Given the description of an element on the screen output the (x, y) to click on. 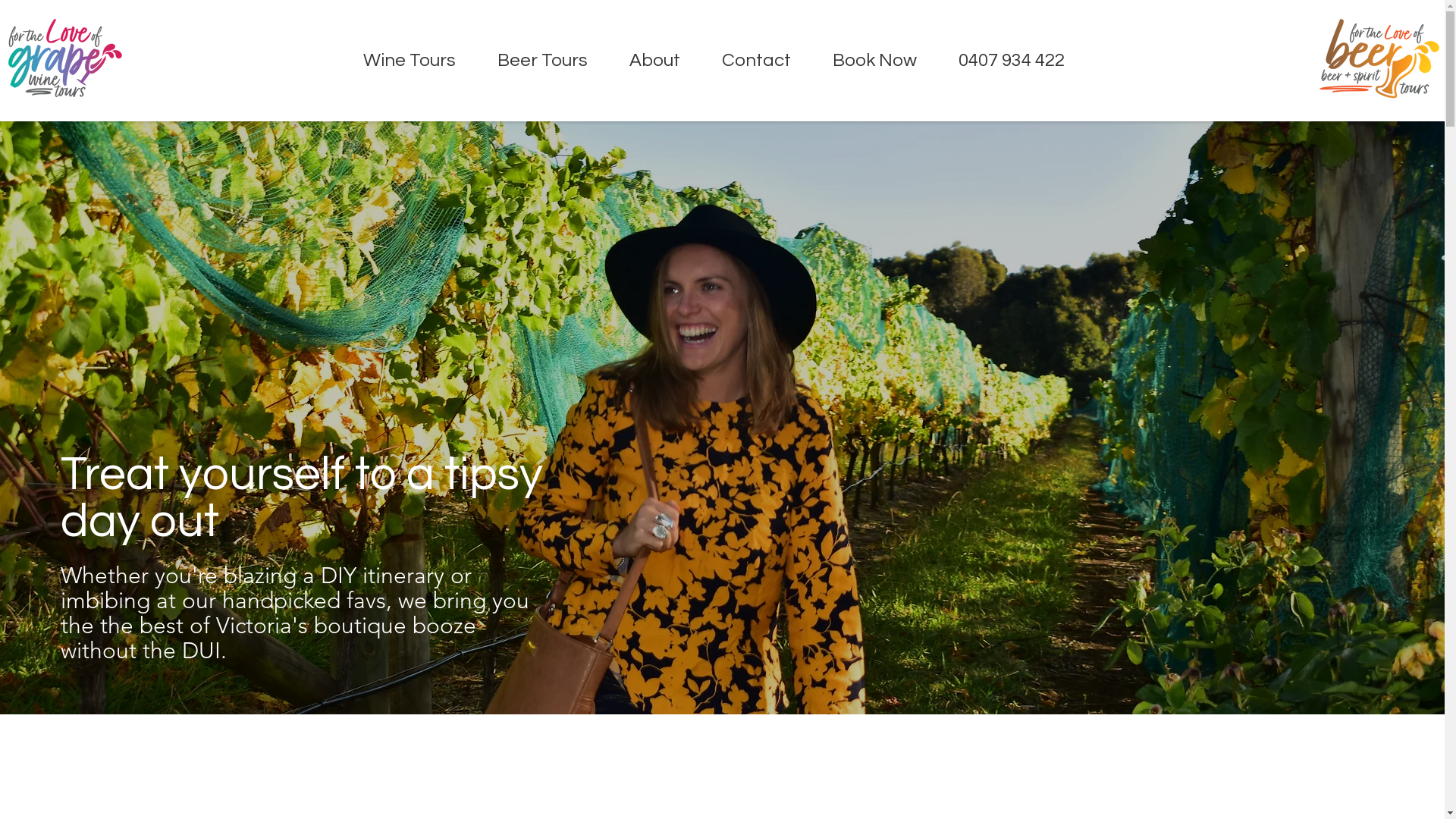
Book Now Element type: text (874, 60)
Contact Element type: text (755, 60)
Beer Tours Element type: text (542, 60)
About Element type: text (654, 60)
0407 934 422 Element type: text (1011, 60)
